Given the description of an element on the screen output the (x, y) to click on. 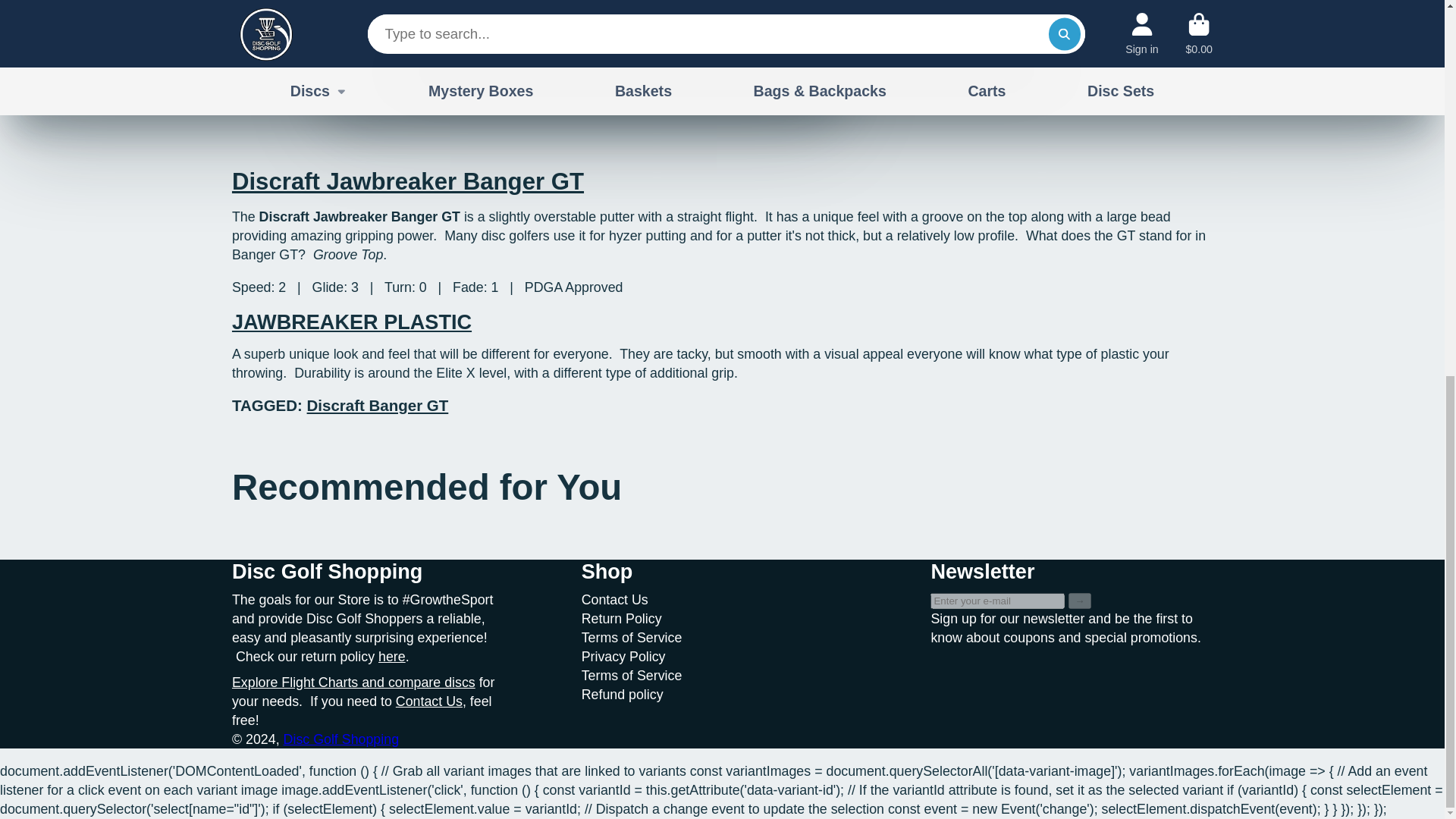
Discraft Banger GT (377, 405)
Return Policy (621, 618)
Google Pay (950, 51)
Refund policy (621, 694)
Disc Golf Flight Charts (353, 682)
Contact Us (429, 701)
Contact Us (429, 701)
PayPal (1058, 51)
American Express (950, 12)
Contact Us (613, 599)
Return Policy (392, 656)
Venmo (1165, 51)
Meta Pay (1165, 12)
Discover (1112, 12)
Privacy Policy (622, 656)
